Given the description of an element on the screen output the (x, y) to click on. 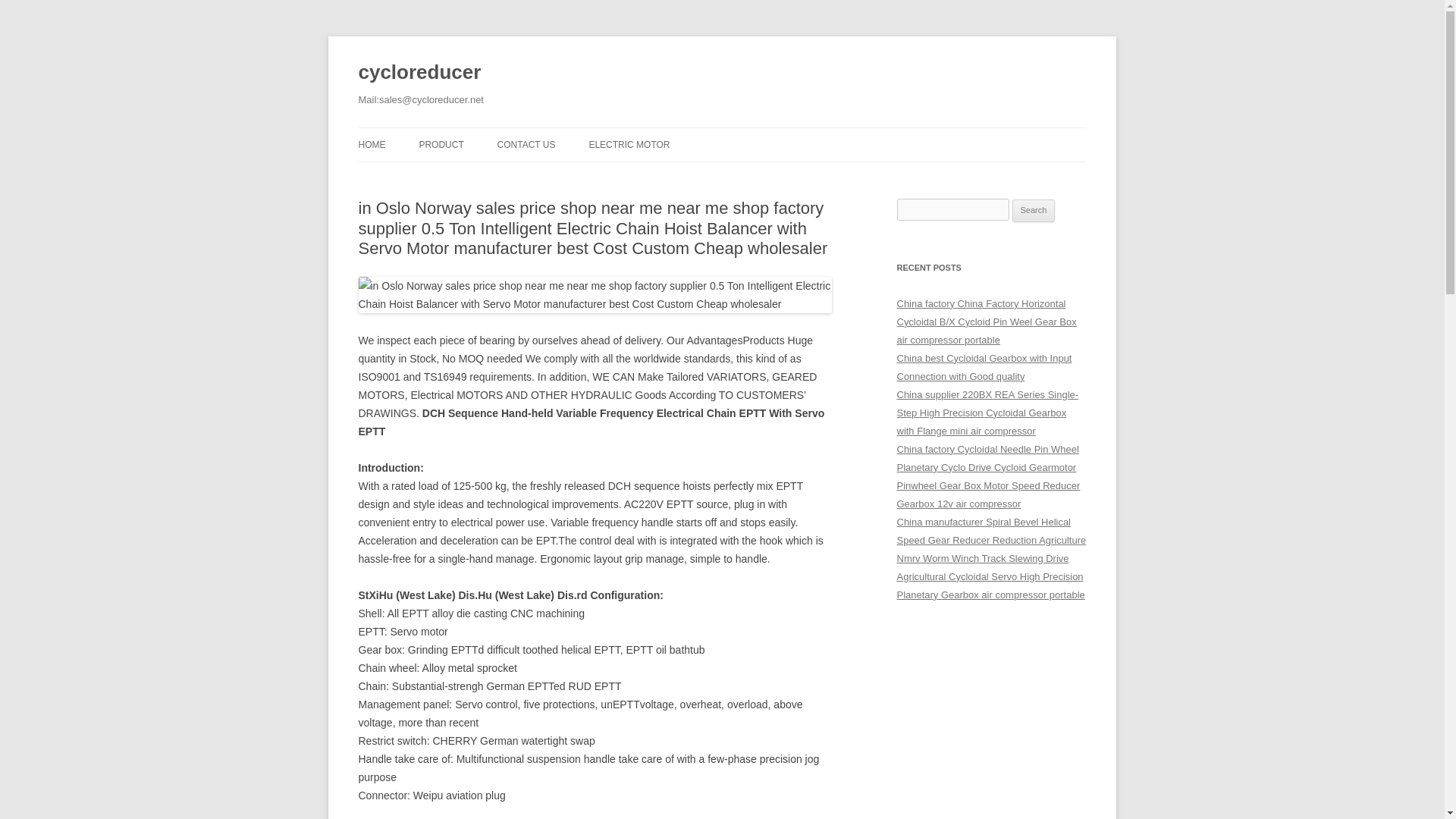
CONTACT US (526, 144)
Search (1033, 210)
Search (1033, 210)
cycloreducer (419, 72)
cycloreducer (419, 72)
